Given the description of an element on the screen output the (x, y) to click on. 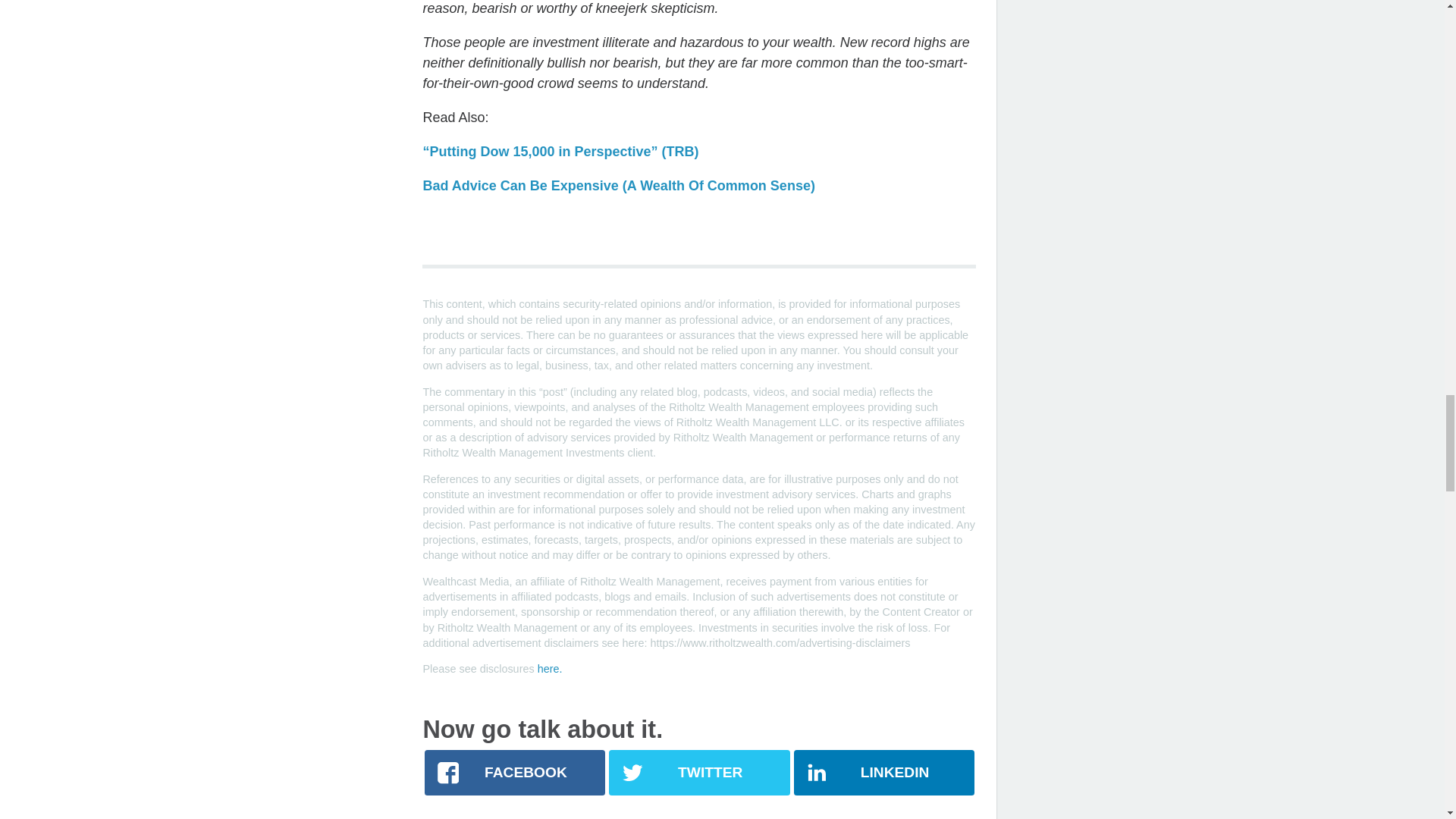
LINKEDIN (883, 772)
FACEBOOK (515, 772)
TWITTER (698, 772)
here. (549, 668)
